Given the description of an element on the screen output the (x, y) to click on. 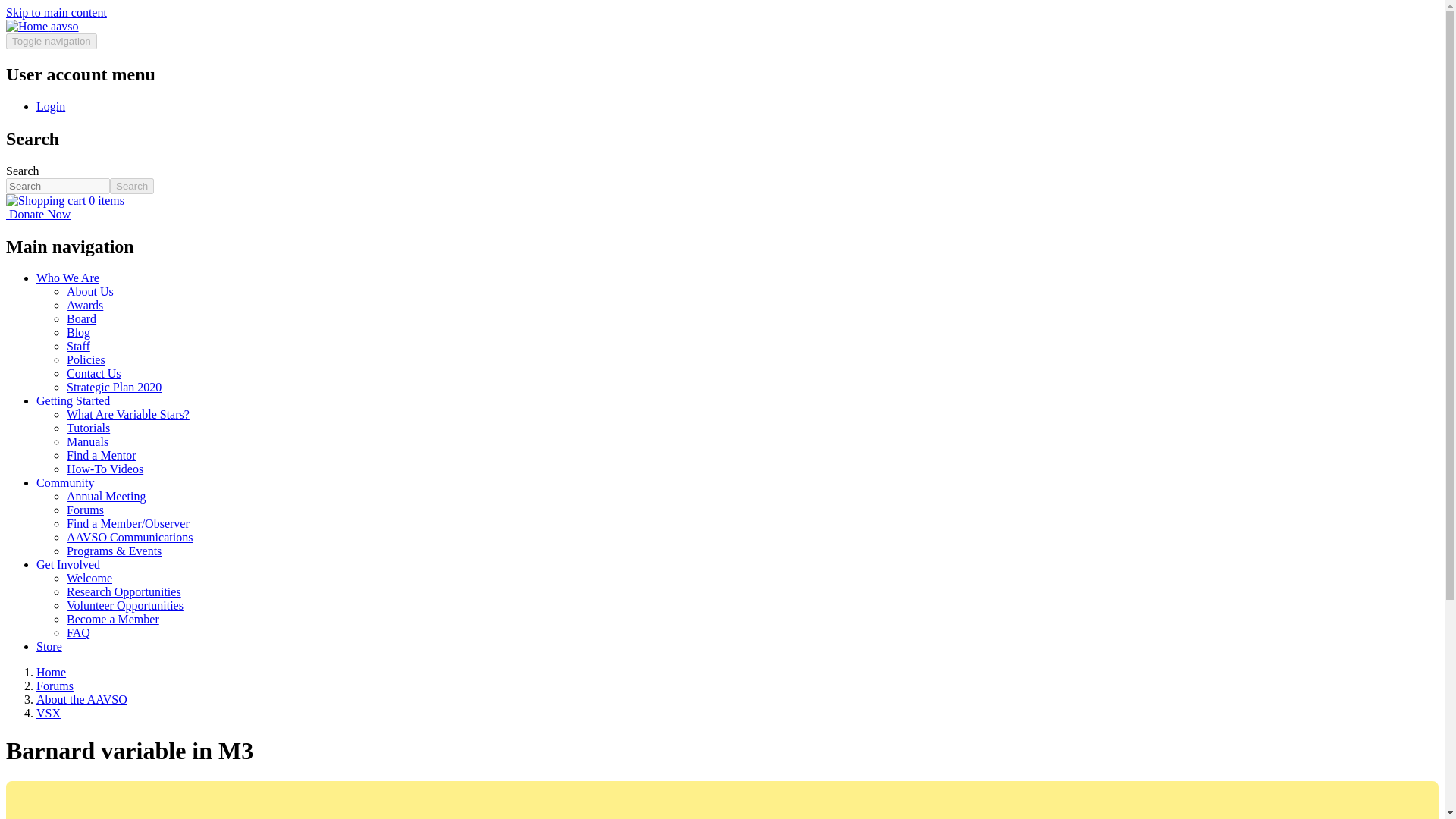
0 items (64, 200)
How-To Videos (104, 468)
Blog (78, 332)
Get Involved (68, 563)
Welcome (89, 577)
Login (50, 106)
What Are Variable Stars? (127, 413)
aavso (64, 25)
Research Opportunities (123, 591)
Annual Meeting (105, 495)
